Given the description of an element on the screen output the (x, y) to click on. 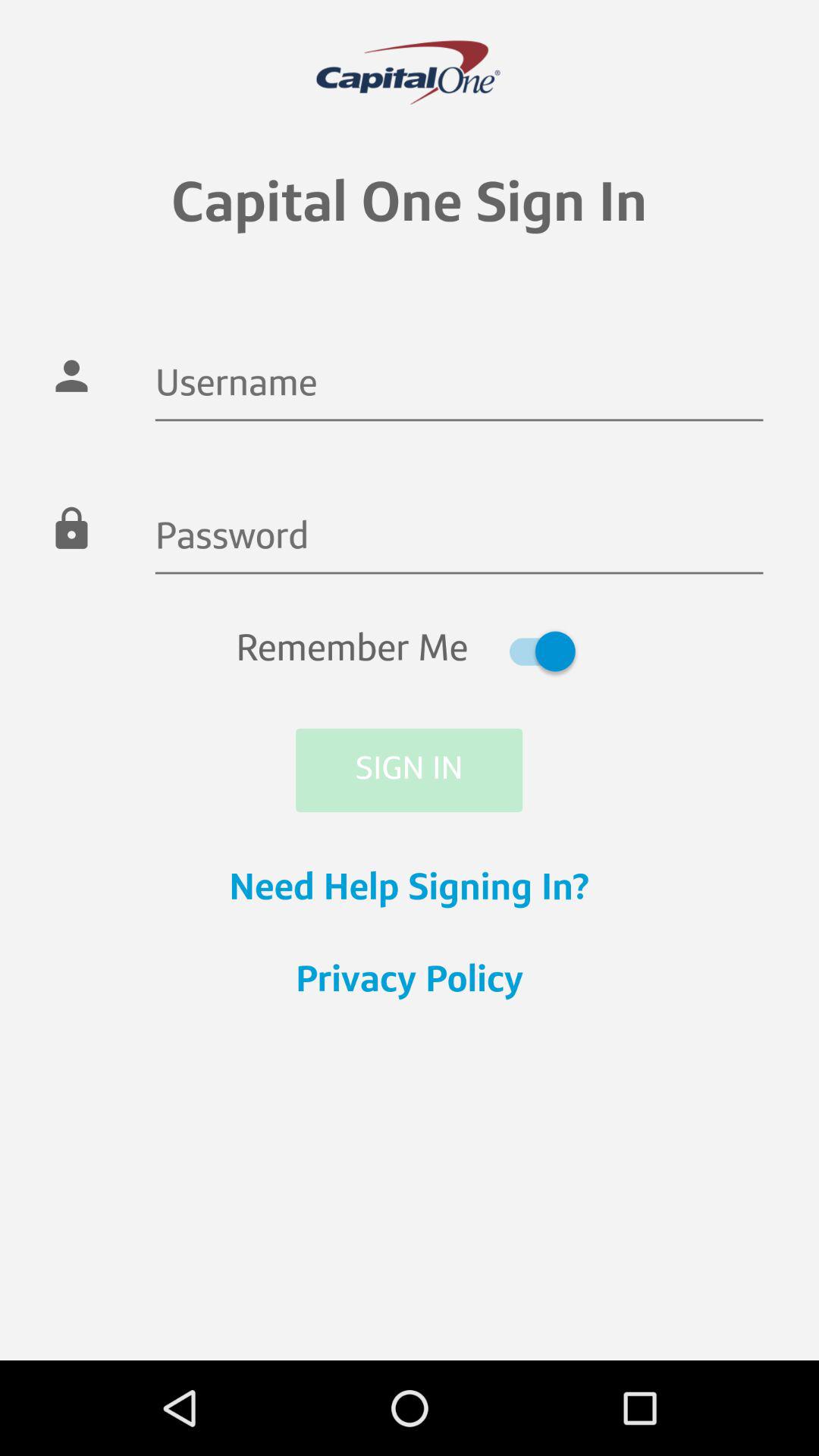
scroll to the remember me (409, 650)
